Given the description of an element on the screen output the (x, y) to click on. 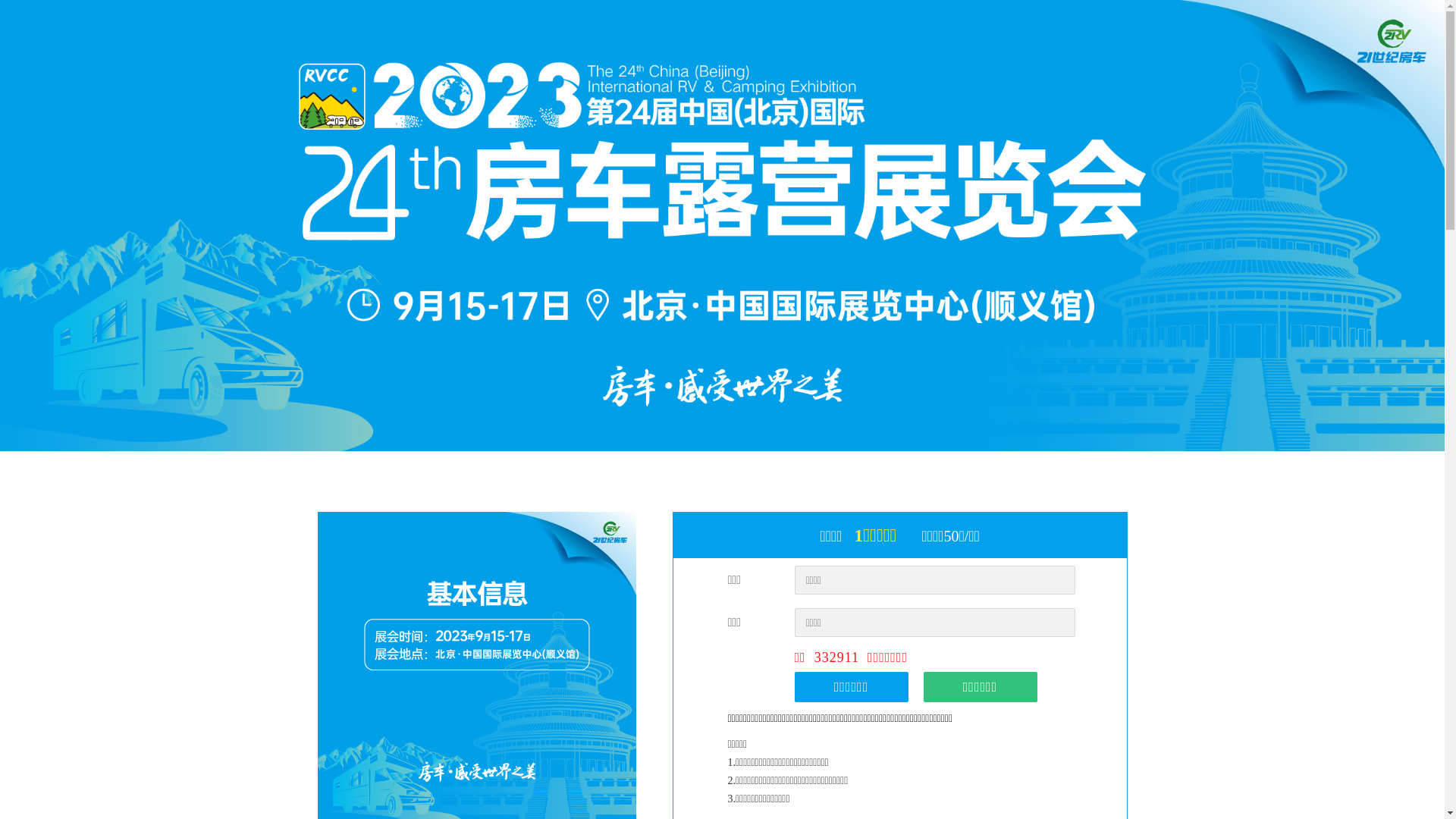
0 Element type: text (1378, 764)
